Given the description of an element on the screen output the (x, y) to click on. 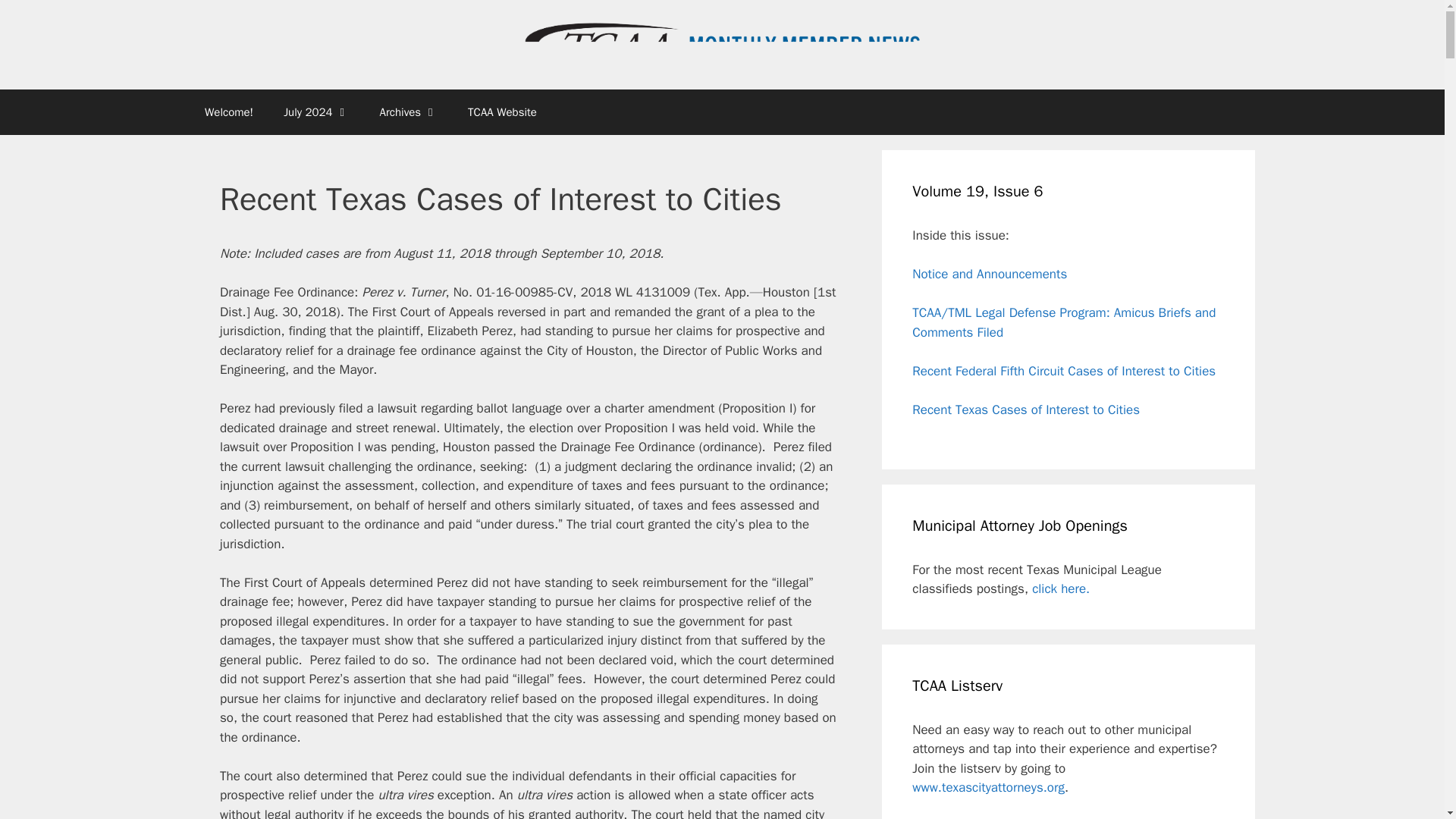
www.texascityattorneys.org (988, 787)
click here. (1060, 588)
July 2024 (315, 112)
Recent Federal Fifth Circuit Cases of Interest to Cities (1063, 371)
Notice and Announcements (989, 273)
TCAA Website (501, 112)
Recent Texas Cases of Interest to Cities (1026, 409)
Archives (408, 112)
Welcome! (228, 112)
